Given the description of an element on the screen output the (x, y) to click on. 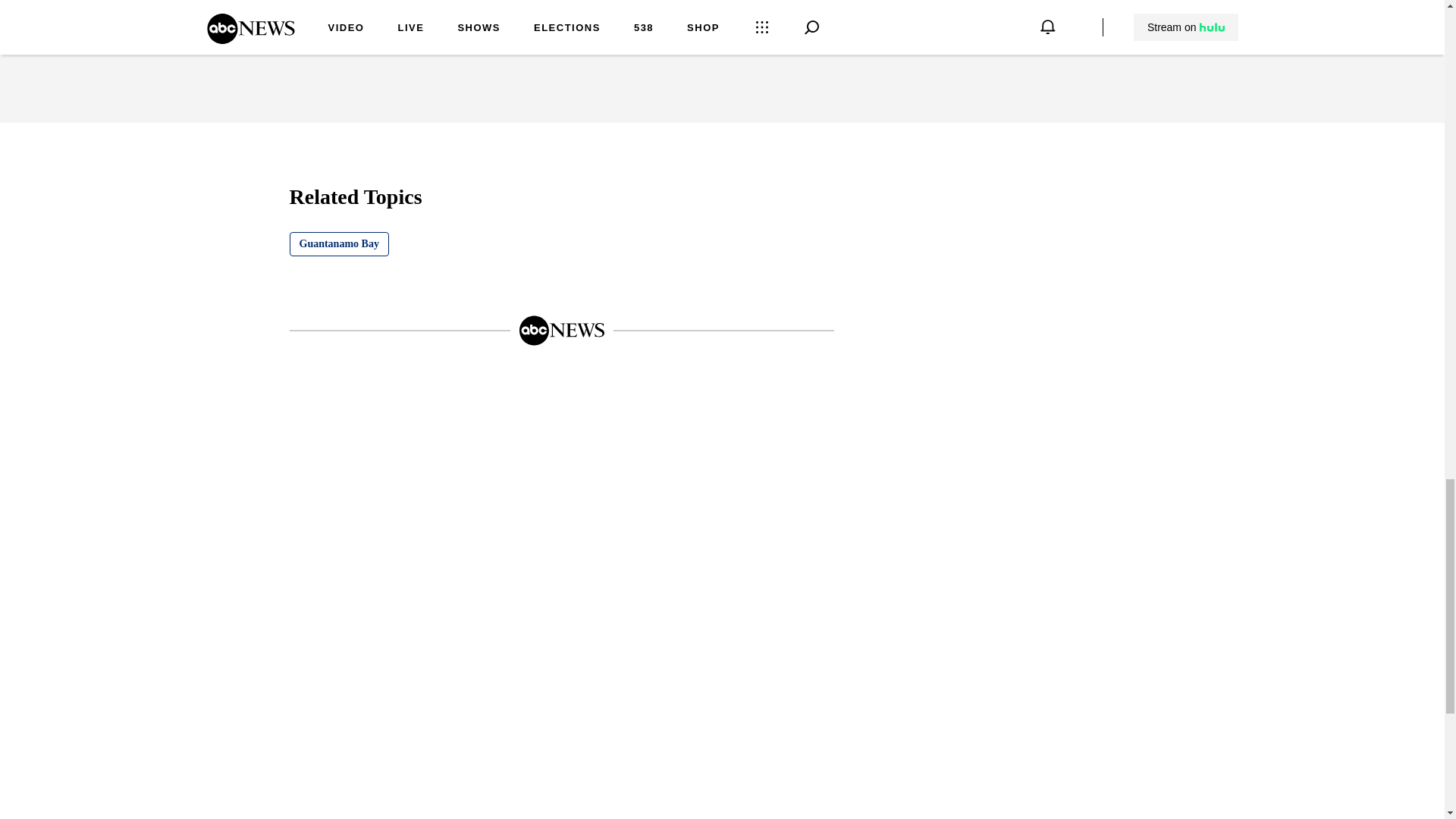
Guantanamo Bay (338, 243)
